Given the description of an element on the screen output the (x, y) to click on. 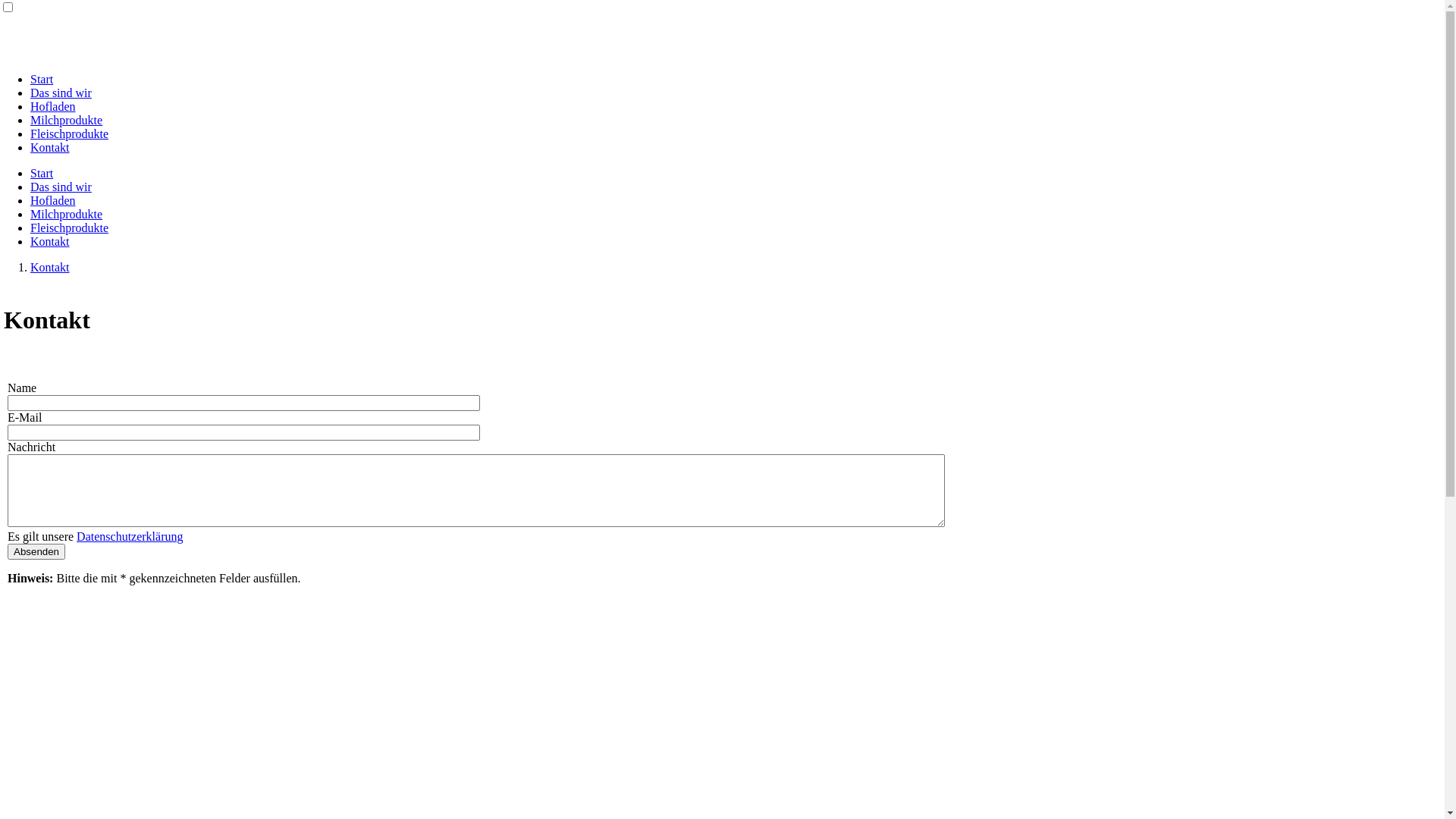
Absenden Element type: text (36, 551)
Hofladen Element type: text (52, 106)
Kontakt Element type: text (49, 241)
Milchprodukte Element type: text (66, 119)
Fleischprodukte Element type: text (69, 133)
Fleischprodukte Element type: text (69, 227)
Das sind wir Element type: text (60, 186)
Kontakt Element type: text (49, 266)
Das sind wir Element type: text (60, 92)
Milchprodukte Element type: text (66, 213)
Kontakt Element type: text (49, 147)
Hofladen Element type: text (52, 200)
Start Element type: text (41, 172)
Start Element type: text (41, 78)
